Given the description of an element on the screen output the (x, y) to click on. 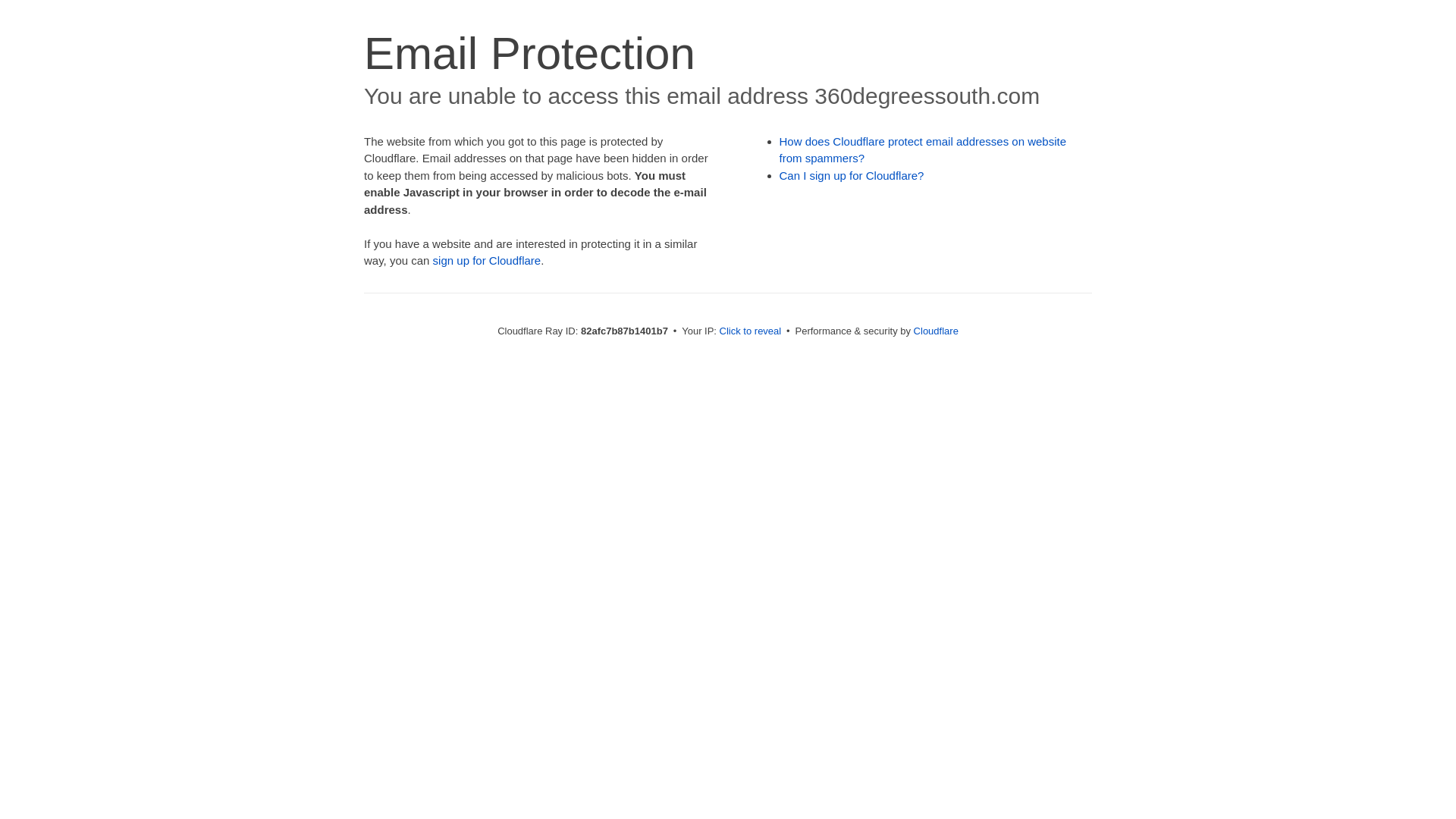
Can I sign up for Cloudflare? Element type: text (851, 175)
Cloudflare Element type: text (935, 330)
sign up for Cloudflare Element type: text (487, 260)
Click to reveal Element type: text (750, 330)
